Given the description of an element on the screen output the (x, y) to click on. 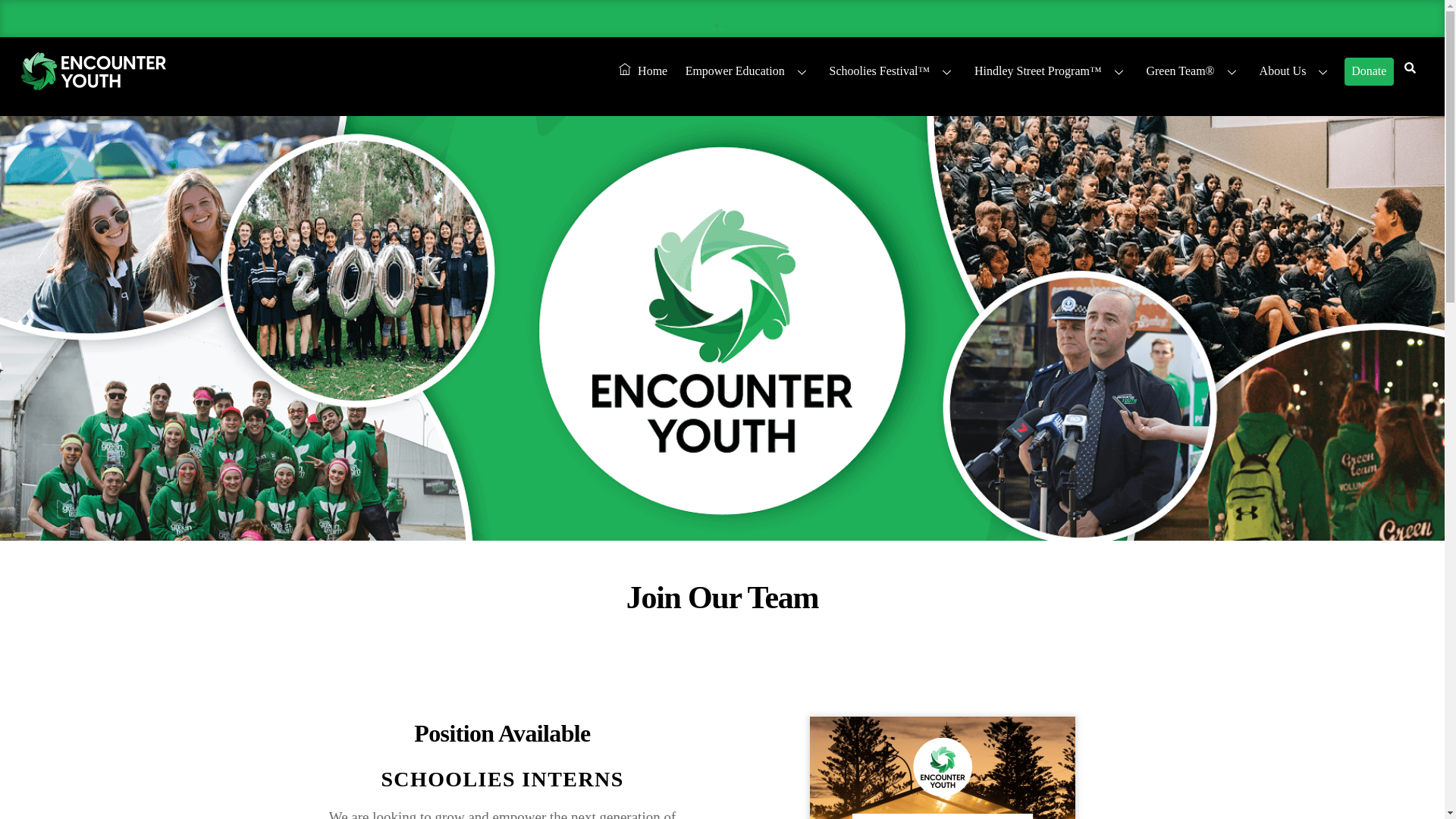
Green Team Volunteers (1193, 71)
Encounter Youth (93, 86)
Home (642, 70)
Empower Education (748, 71)
Schoolies Intern, Encounter Youth (942, 767)
